Given the description of an element on the screen output the (x, y) to click on. 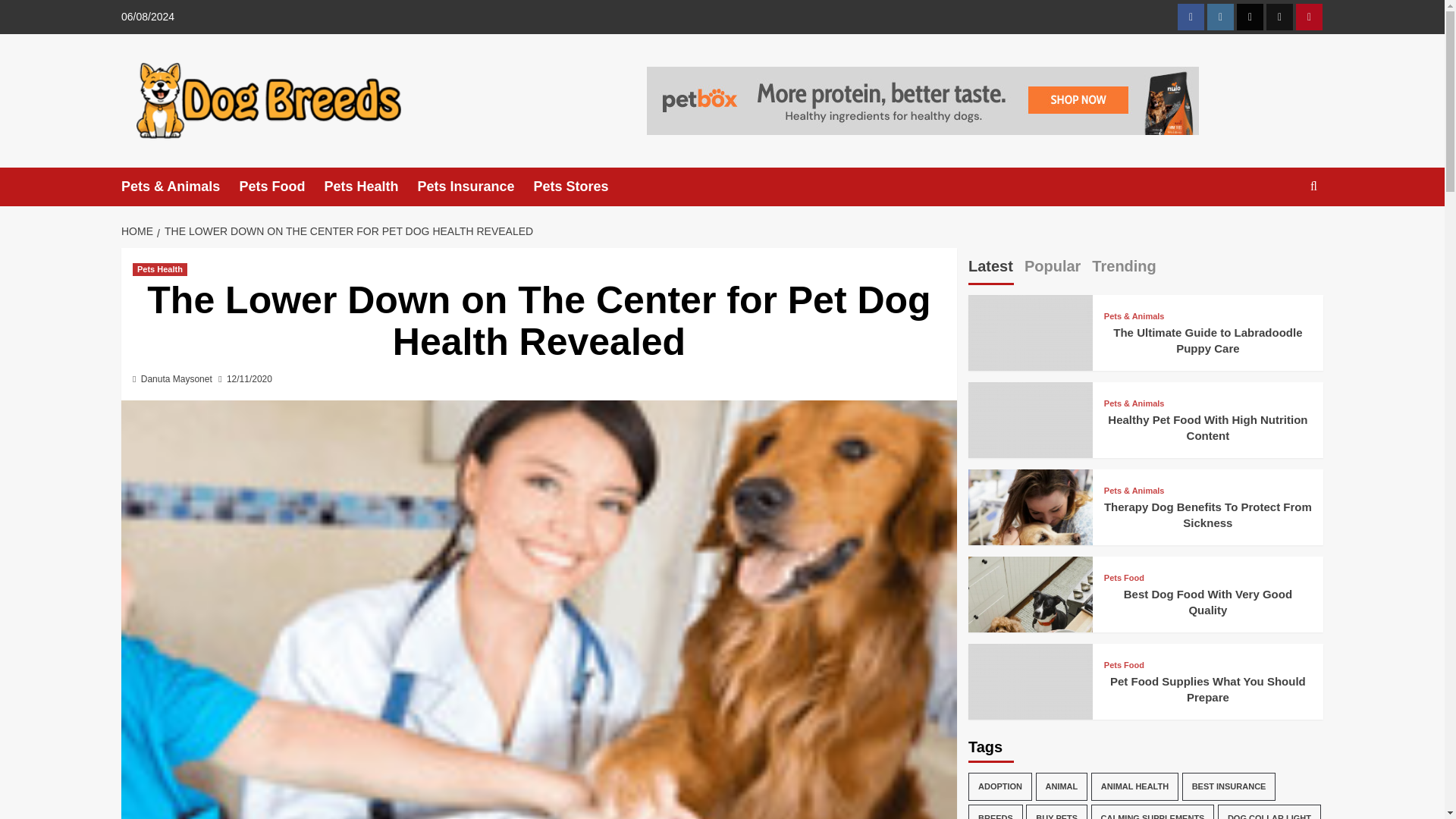
Pets Health (369, 186)
Tiktok (1279, 17)
Pets Health (159, 269)
HOME (138, 230)
Best Dog Food With Very Good Quality (1030, 618)
Pinterest (1308, 17)
Healthy Pet Food With High Nutrition Content (1030, 444)
Instagram (1220, 17)
Search (1278, 270)
Pets Food (280, 186)
